Given the description of an element on the screen output the (x, y) to click on. 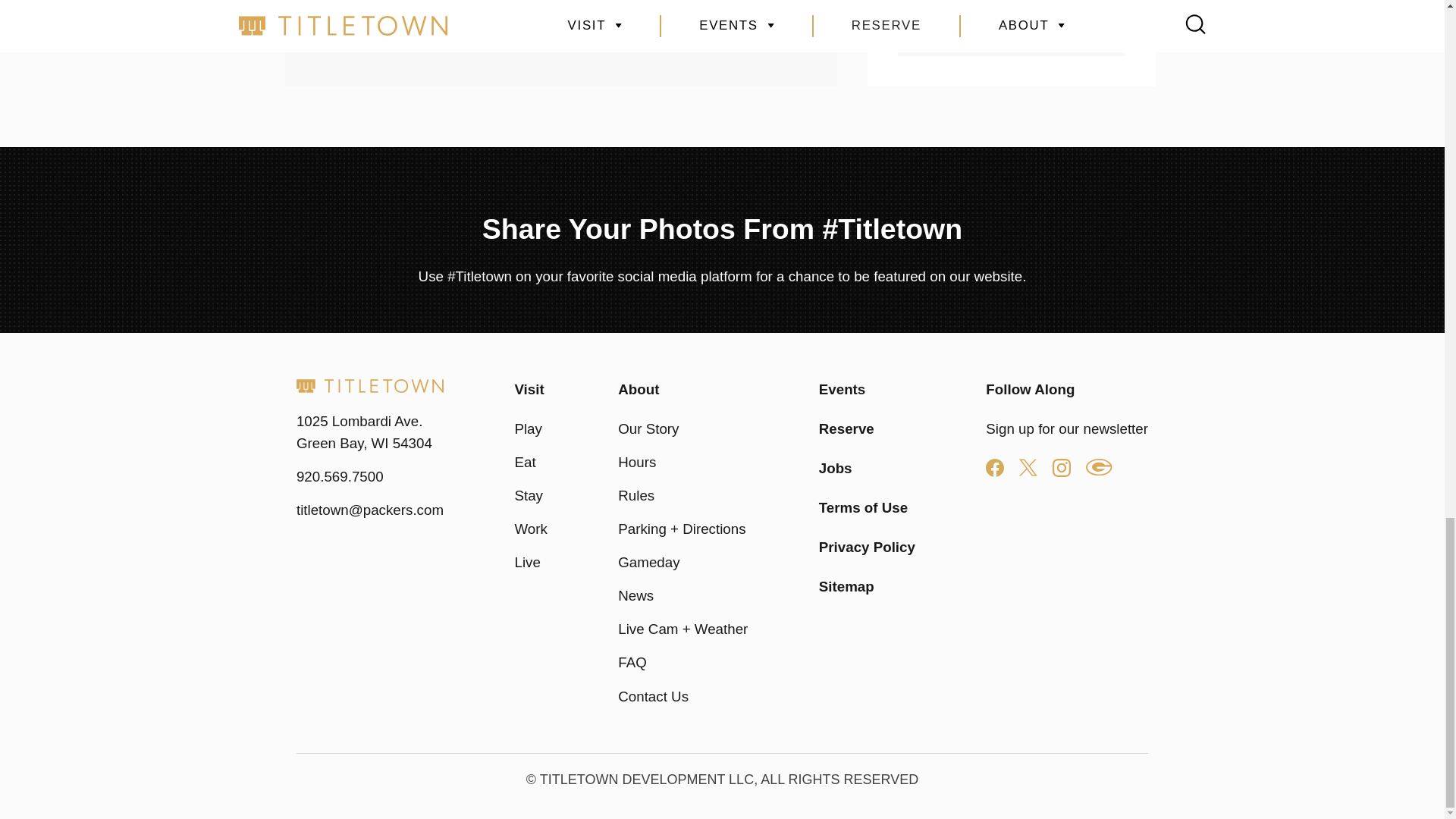
3rd party ad content (561, 52)
